Given the description of an element on the screen output the (x, y) to click on. 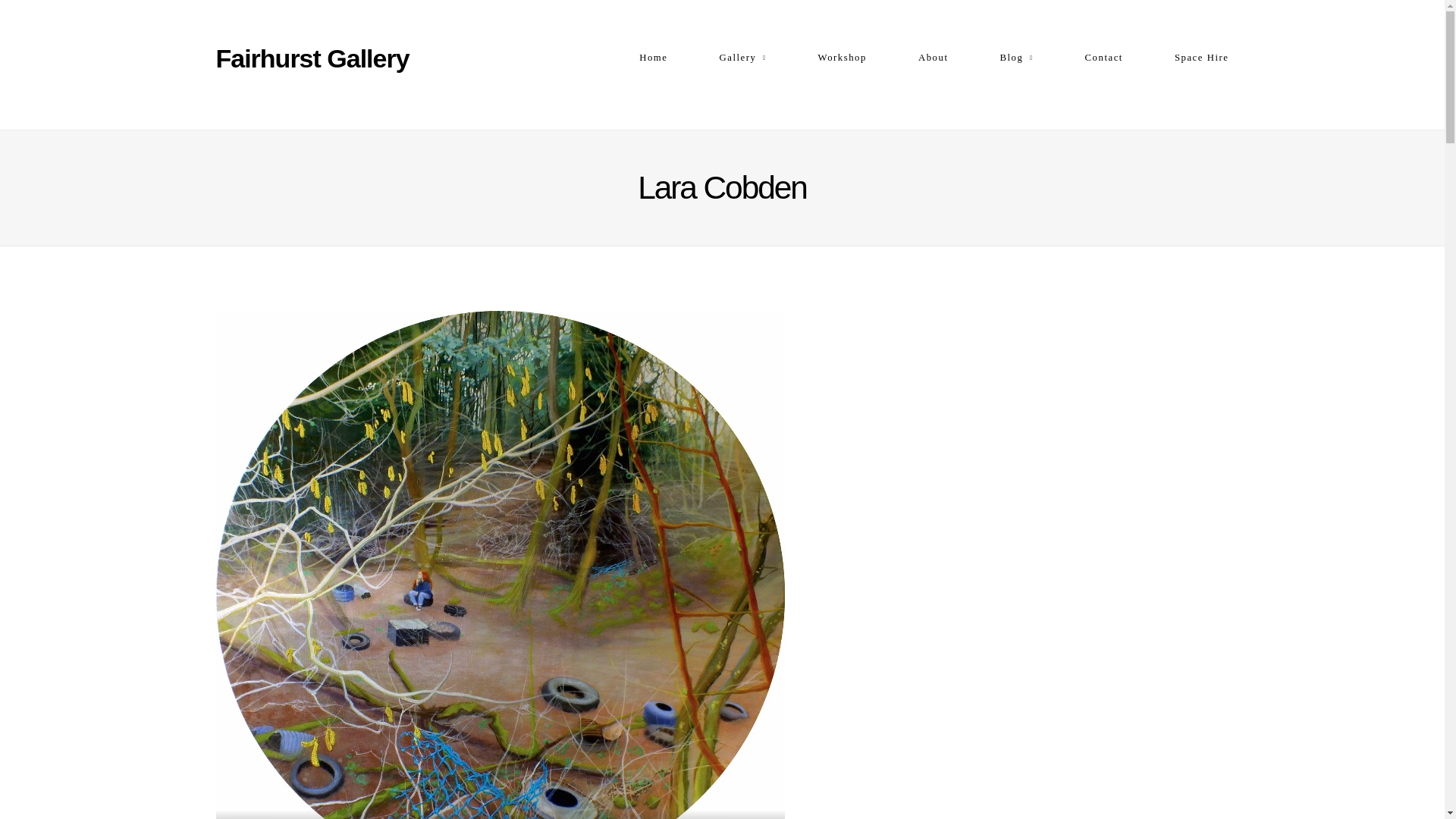
About (933, 57)
Blog (1015, 57)
Space Hire (1201, 57)
Workshop (842, 57)
Contact (1103, 57)
Gallery (742, 57)
Fairhurst Gallery (322, 58)
Home (652, 57)
